Given the description of an element on the screen output the (x, y) to click on. 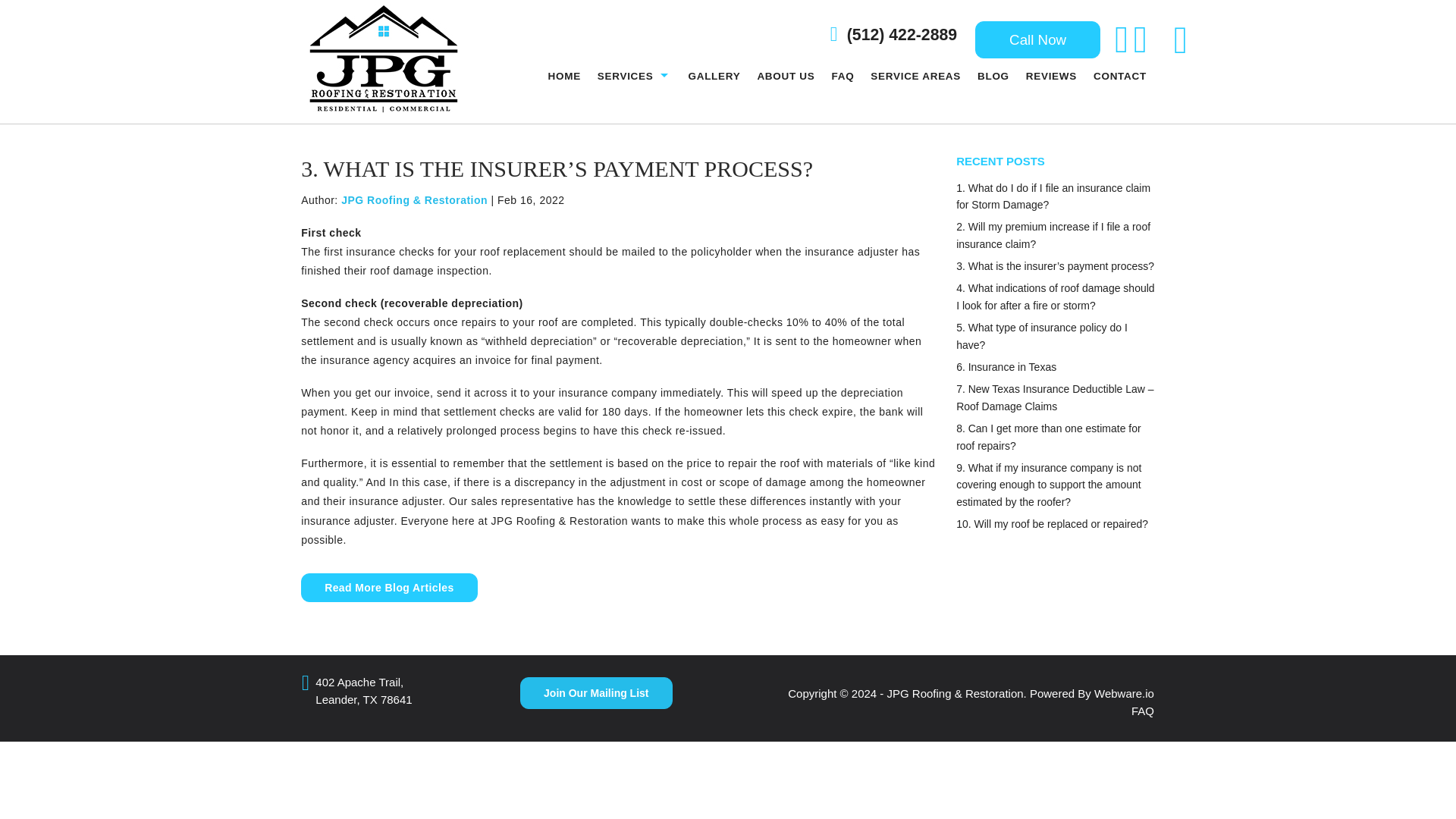
Read More Blog Articles (389, 587)
Join Our Mailing List (595, 693)
BLOG (993, 76)
8. Can I get more than one estimate for roof repairs? (1048, 436)
Call Now (1037, 39)
6. Insurance in Texas (1006, 367)
REVIEWS (1050, 76)
10. Will my roof be replaced or repaired? (1052, 523)
